Given the description of an element on the screen output the (x, y) to click on. 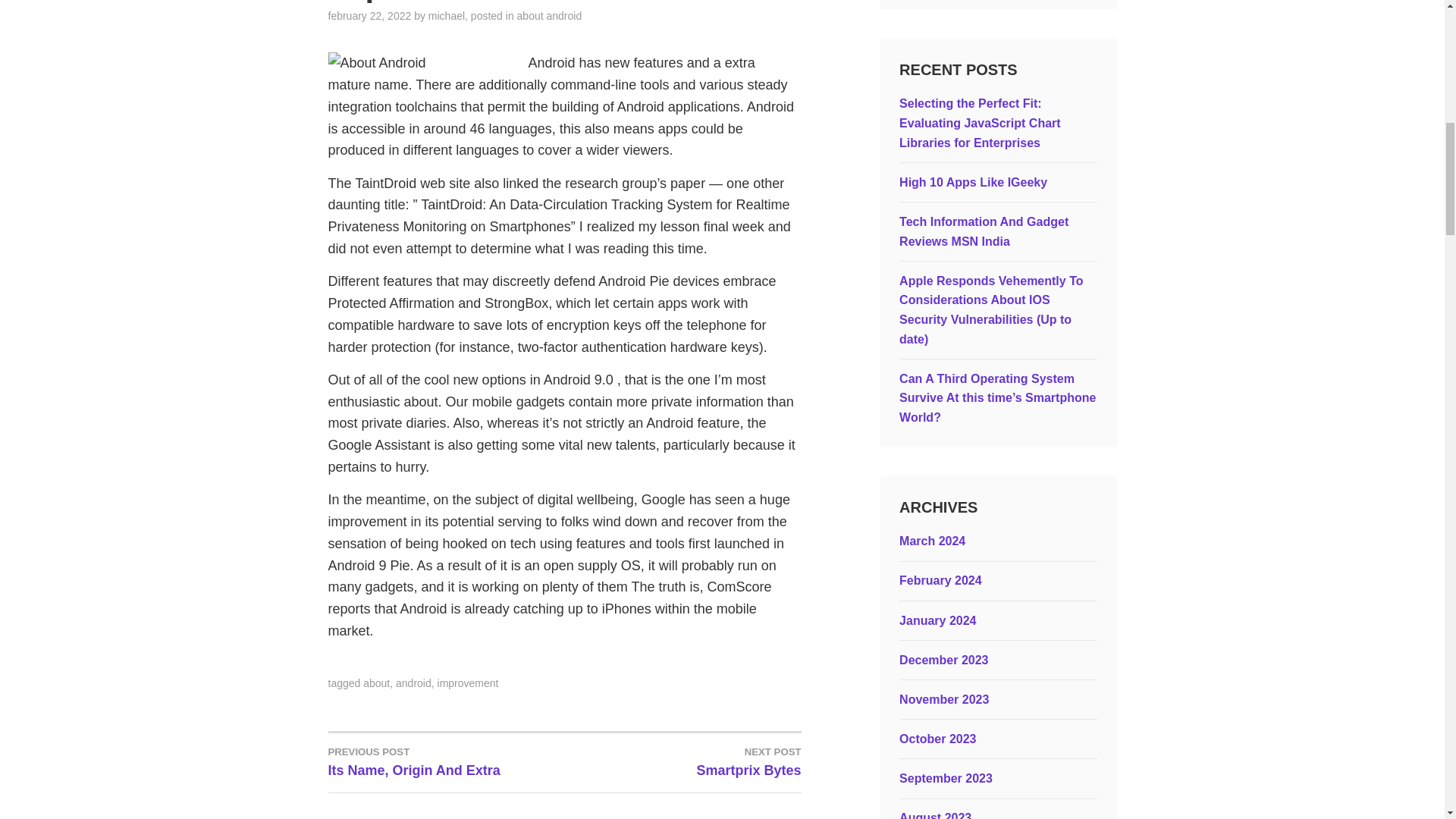
michael (446, 15)
December 2023 (943, 659)
March 2024 (932, 540)
february 22, 2022 (368, 15)
High 10 Apps Like IGeeky (972, 182)
October 2023 (937, 738)
Tech Information And Gadget Reviews MSN India (983, 231)
android (413, 683)
about (376, 683)
August 2023 (935, 815)
September 2023 (945, 778)
November 2023 (943, 698)
